Given the description of an element on the screen output the (x, y) to click on. 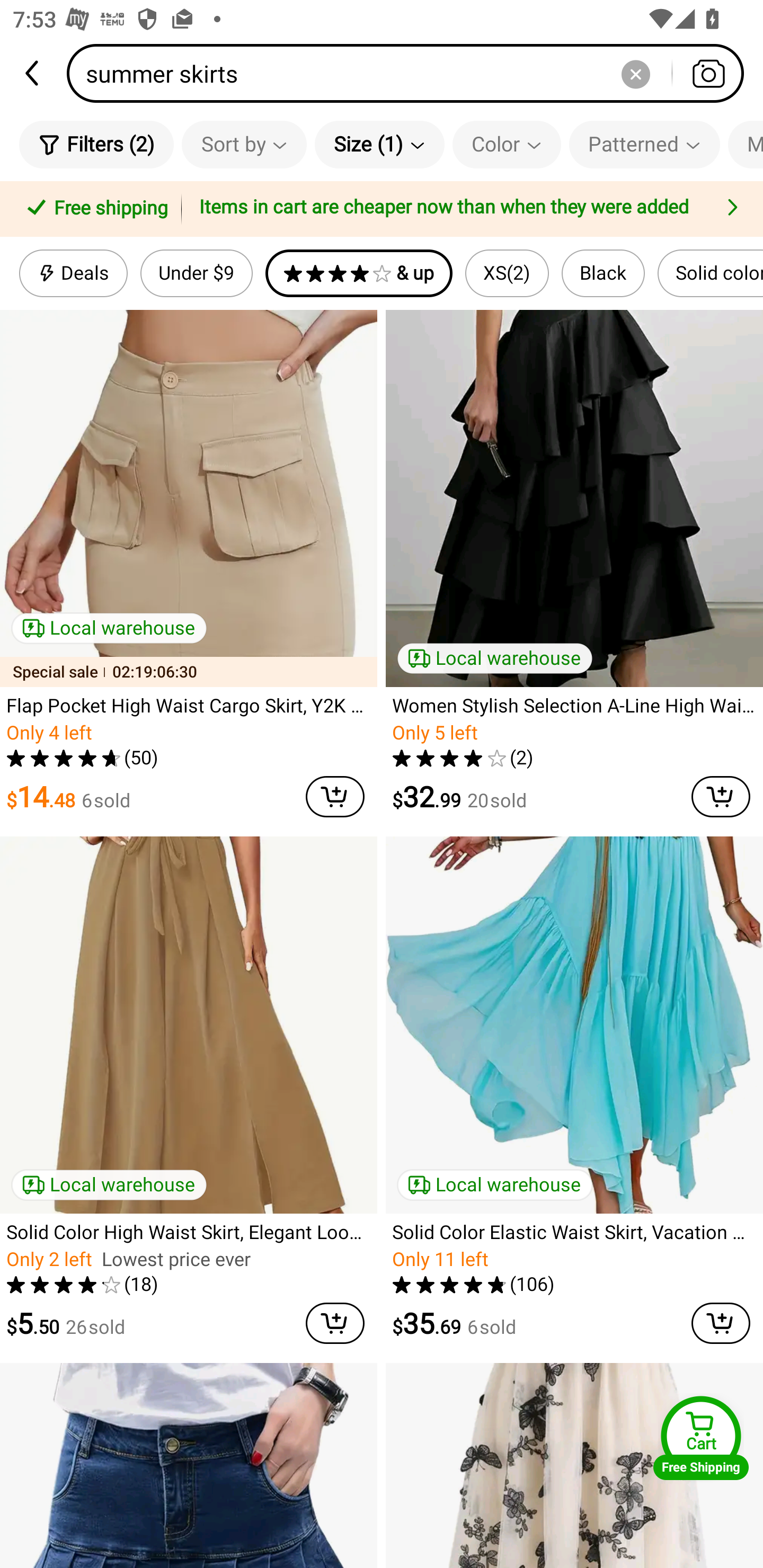
back (33, 72)
summer skirts (411, 73)
Delete search history (635, 73)
Search by photo (708, 73)
Filters (2) (96, 143)
Sort by (243, 143)
Size (1) (379, 143)
Color (506, 143)
Patterned (644, 143)
 Free shipping (93, 208)
Deals (73, 273)
Under $9 (196, 273)
& up (358, 273)
XS(2) (506, 273)
Black (602, 273)
Solid color (710, 273)
Cart Free Shipping Cart (701, 1437)
